Given the description of an element on the screen output the (x, y) to click on. 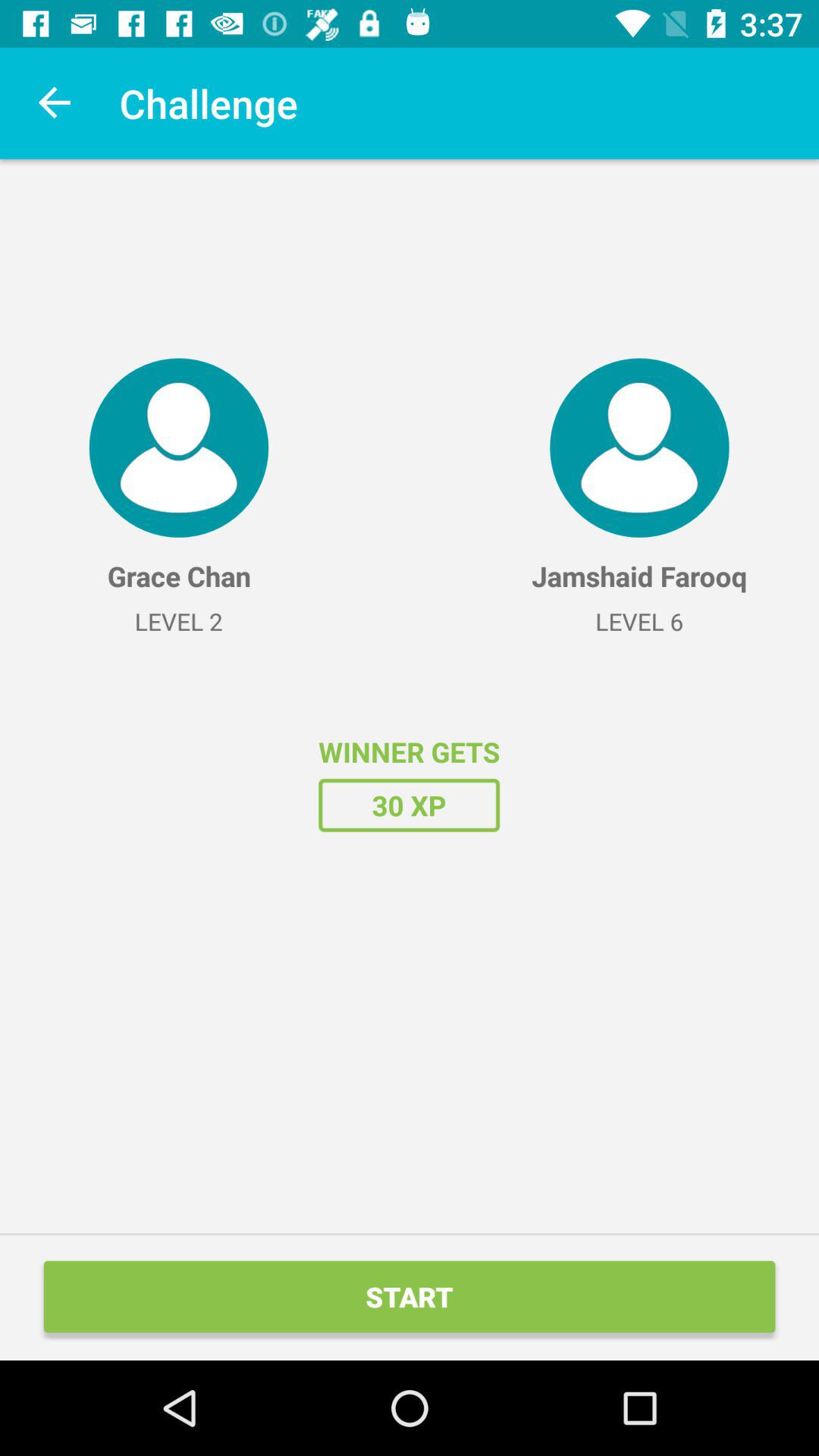
turn on item to the left of the challenge (55, 103)
